Given the description of an element on the screen output the (x, y) to click on. 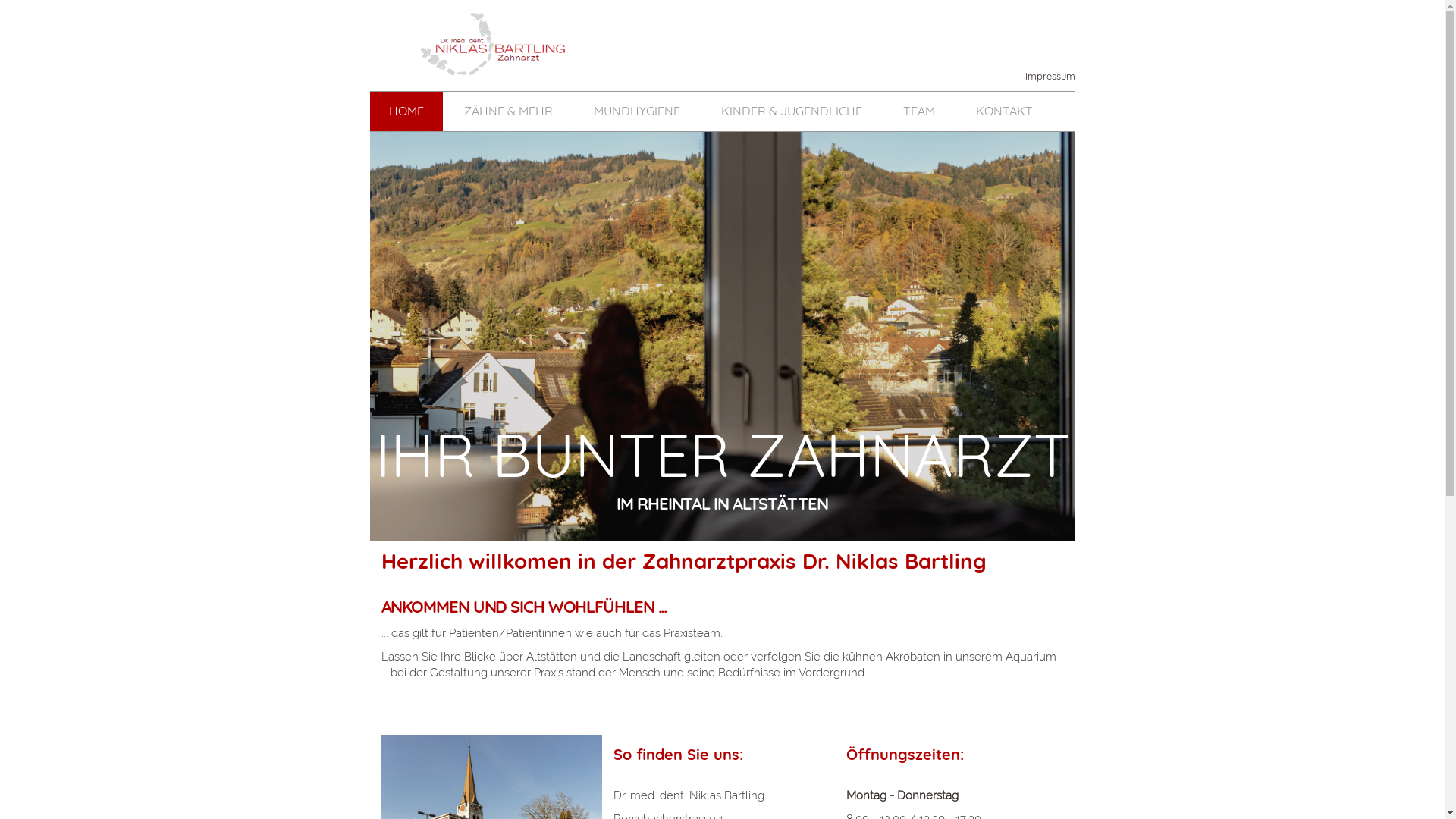
KINDER & JUGENDLICHE Element type: text (791, 111)
HOME Element type: text (406, 111)
TEAM Element type: text (918, 111)
KONTAKT Element type: text (1004, 111)
MUNDHYGIENE Element type: text (636, 111)
Impressum Element type: text (1042, 76)
